Given the description of an element on the screen output the (x, y) to click on. 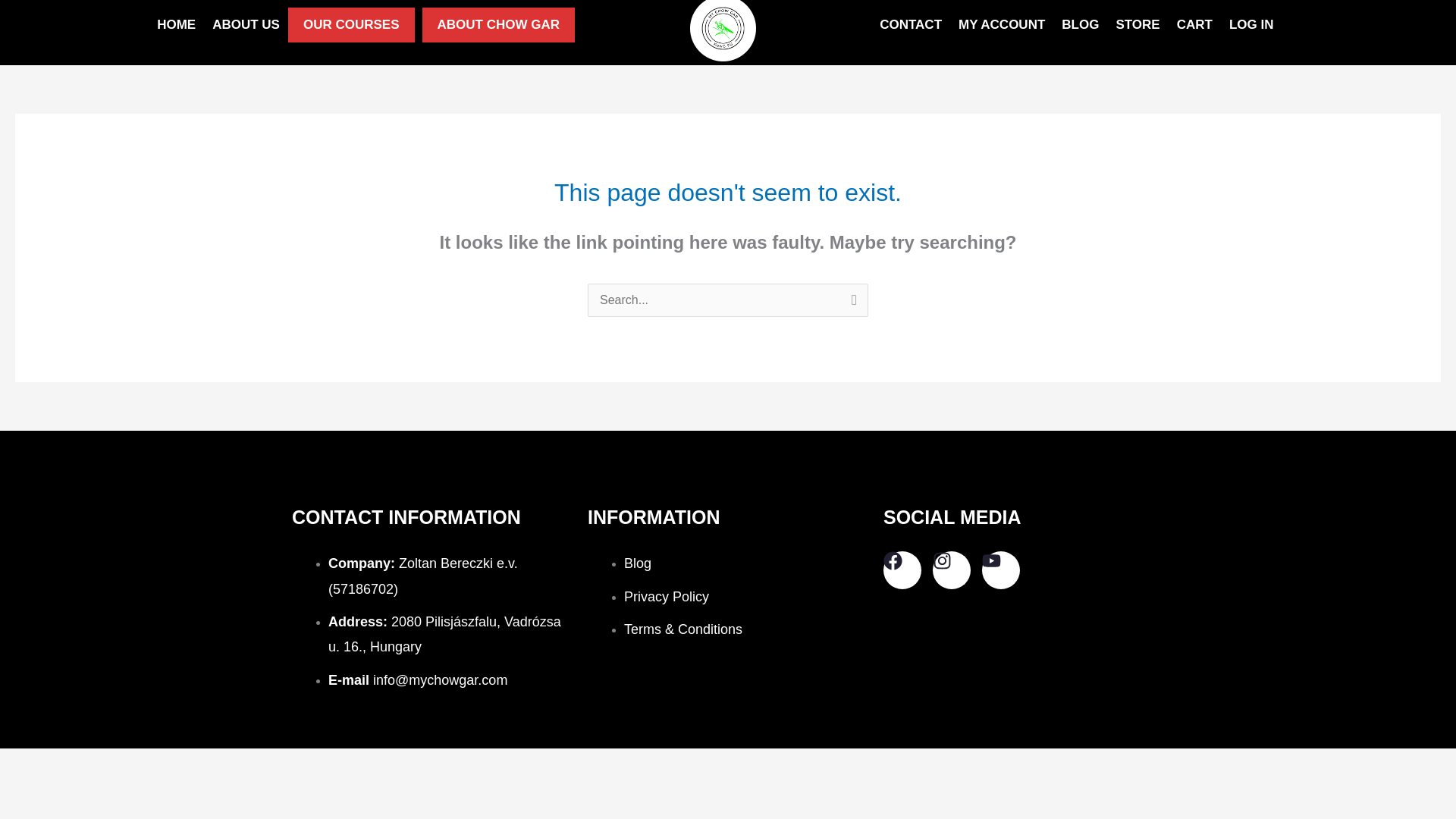
STORE (1136, 24)
HOME (175, 24)
ABOUT US (245, 24)
OUR COURSES (351, 24)
LOG IN (1251, 24)
BLOG (1079, 24)
MY ACCOUNT (1001, 24)
ABOUT CHOW GAR (498, 24)
CART (1195, 24)
CONTACT (910, 24)
